Given the description of an element on the screen output the (x, y) to click on. 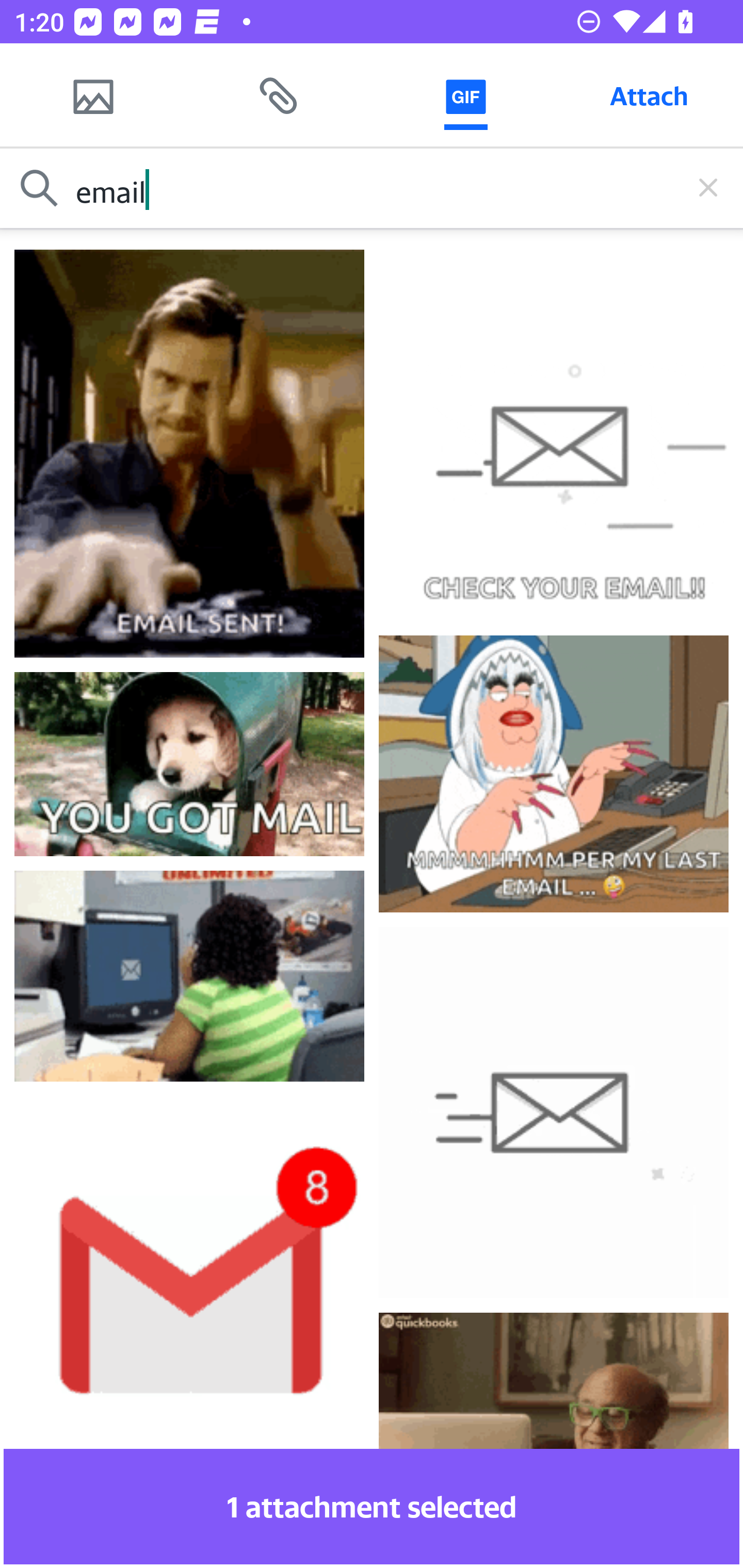
Camera photos (93, 95)
Recent attachments from mail (279, 95)
GIFs (465, 95)
Attach (649, 95)
email (371, 187)
1 attachment selected (371, 1506)
